Given the description of an element on the screen output the (x, y) to click on. 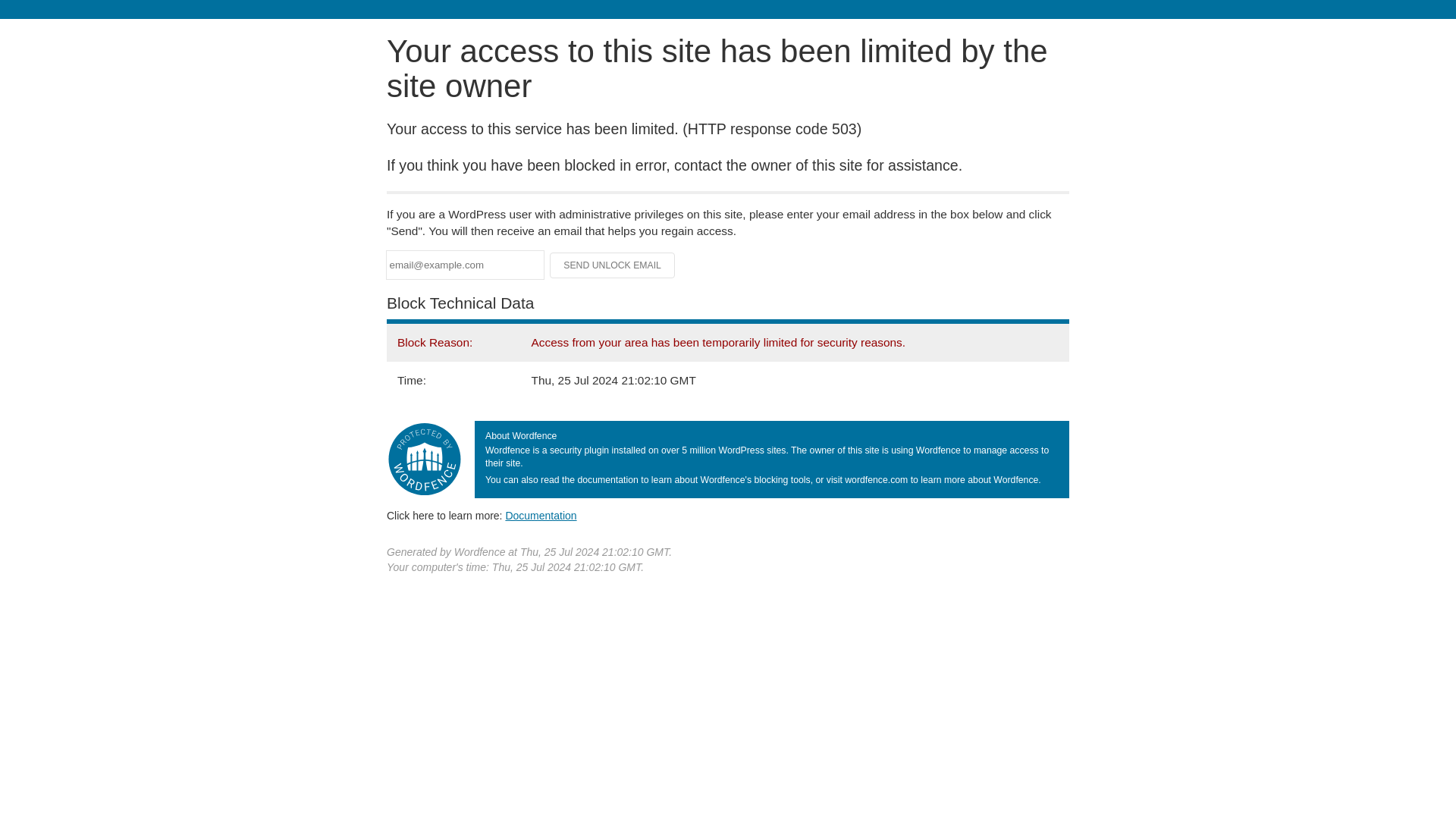
Documentation (540, 515)
Send Unlock Email (612, 265)
Send Unlock Email (612, 265)
